Given the description of an element on the screen output the (x, y) to click on. 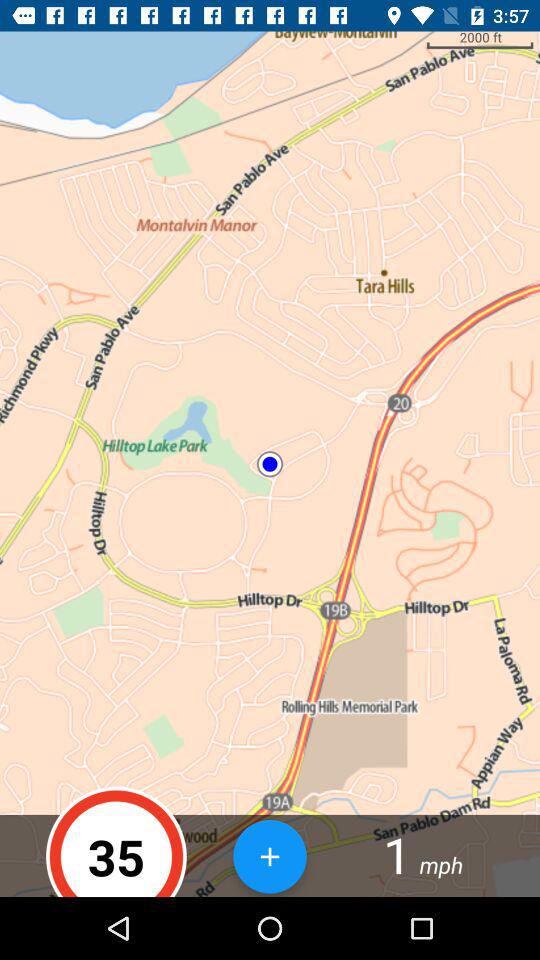
add option (269, 856)
